Given the description of an element on the screen output the (x, y) to click on. 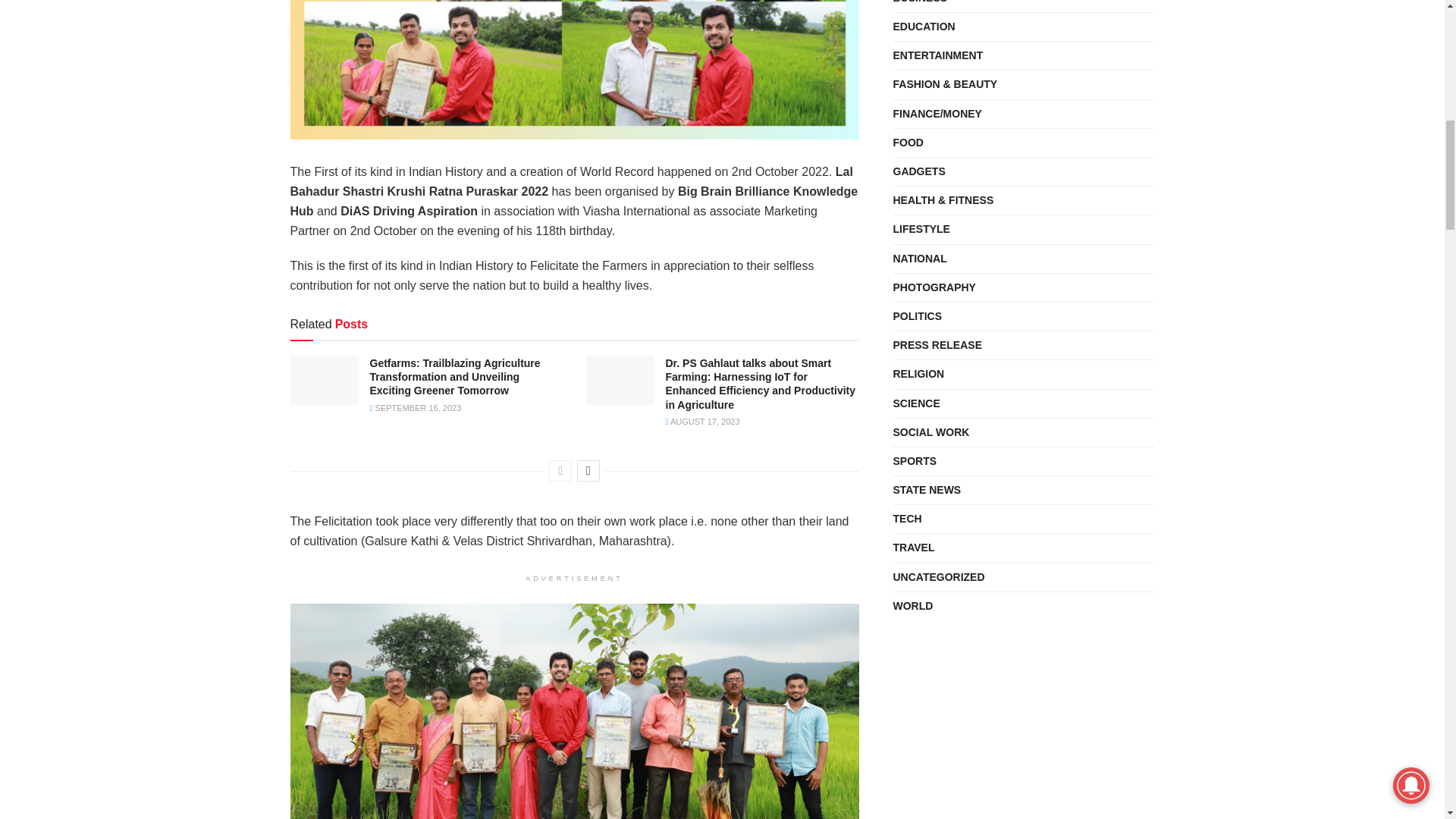
Next (587, 470)
Previous (560, 470)
